Given the description of an element on the screen output the (x, y) to click on. 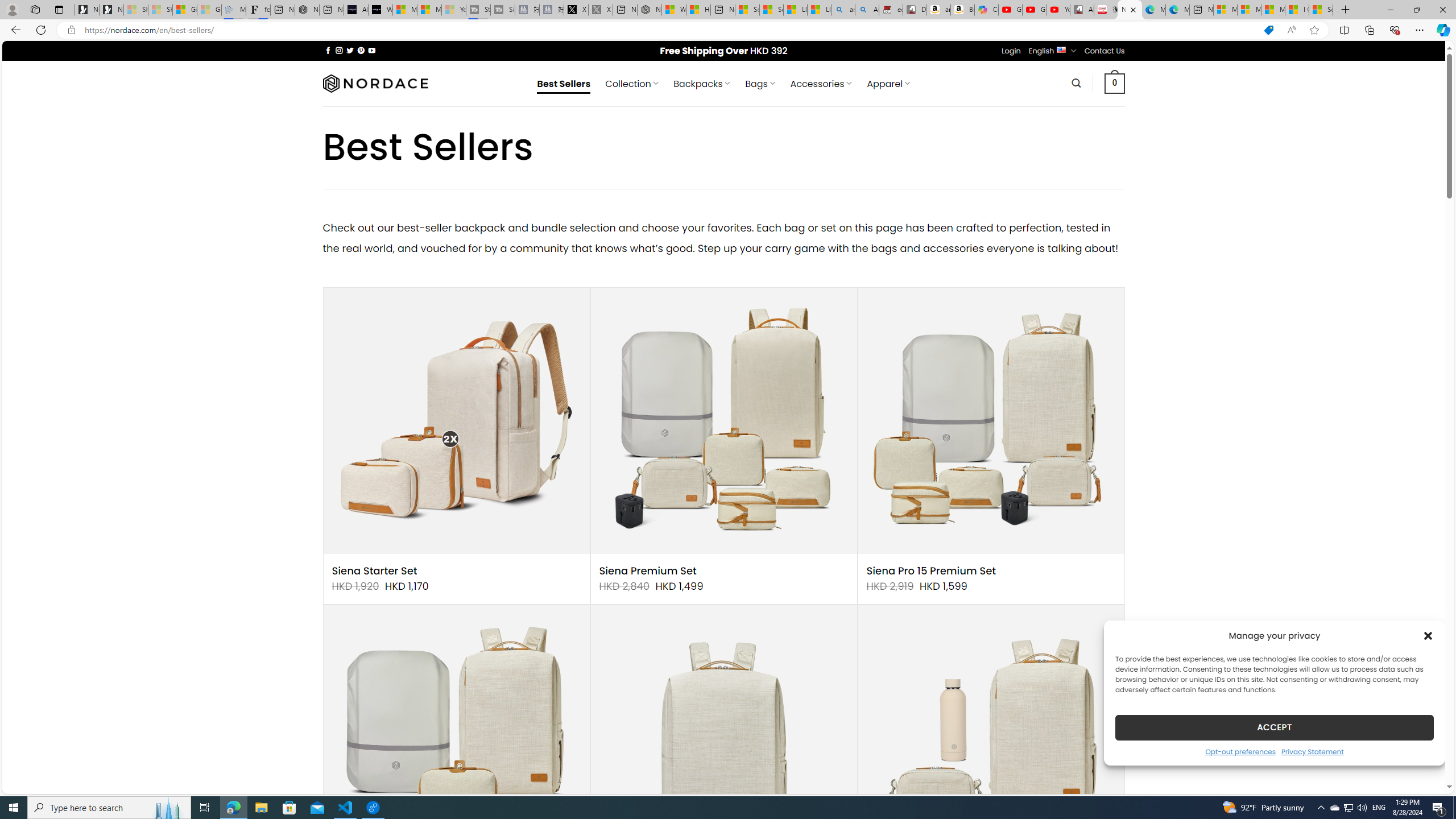
X - Sleeping (600, 9)
Wildlife - MSN (673, 9)
Newsletter Sign Up (111, 9)
 Best Sellers (564, 83)
ACCEPT (1274, 727)
Microsoft Start Sports (404, 9)
amazon.in/dp/B0CX59H5W7/?tag=gsmcom05-21 (938, 9)
